Given the description of an element on the screen output the (x, y) to click on. 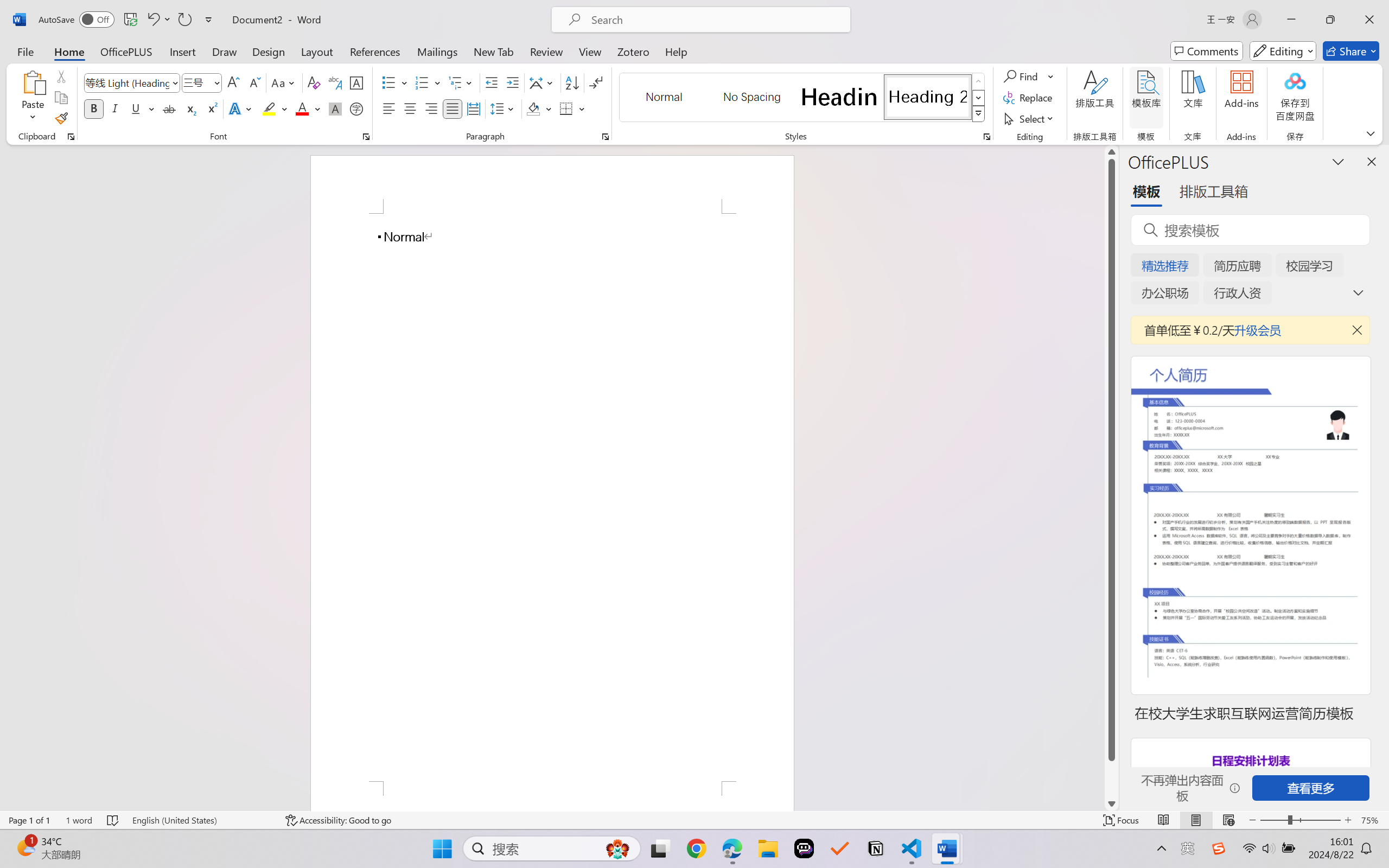
Align Right (431, 108)
Zoom (1300, 819)
Row Down (978, 97)
New Tab (493, 51)
Find (1022, 75)
Task Pane Options (1338, 161)
Shading (539, 108)
Superscript (210, 108)
Zoom In (1348, 819)
